Given the description of an element on the screen output the (x, y) to click on. 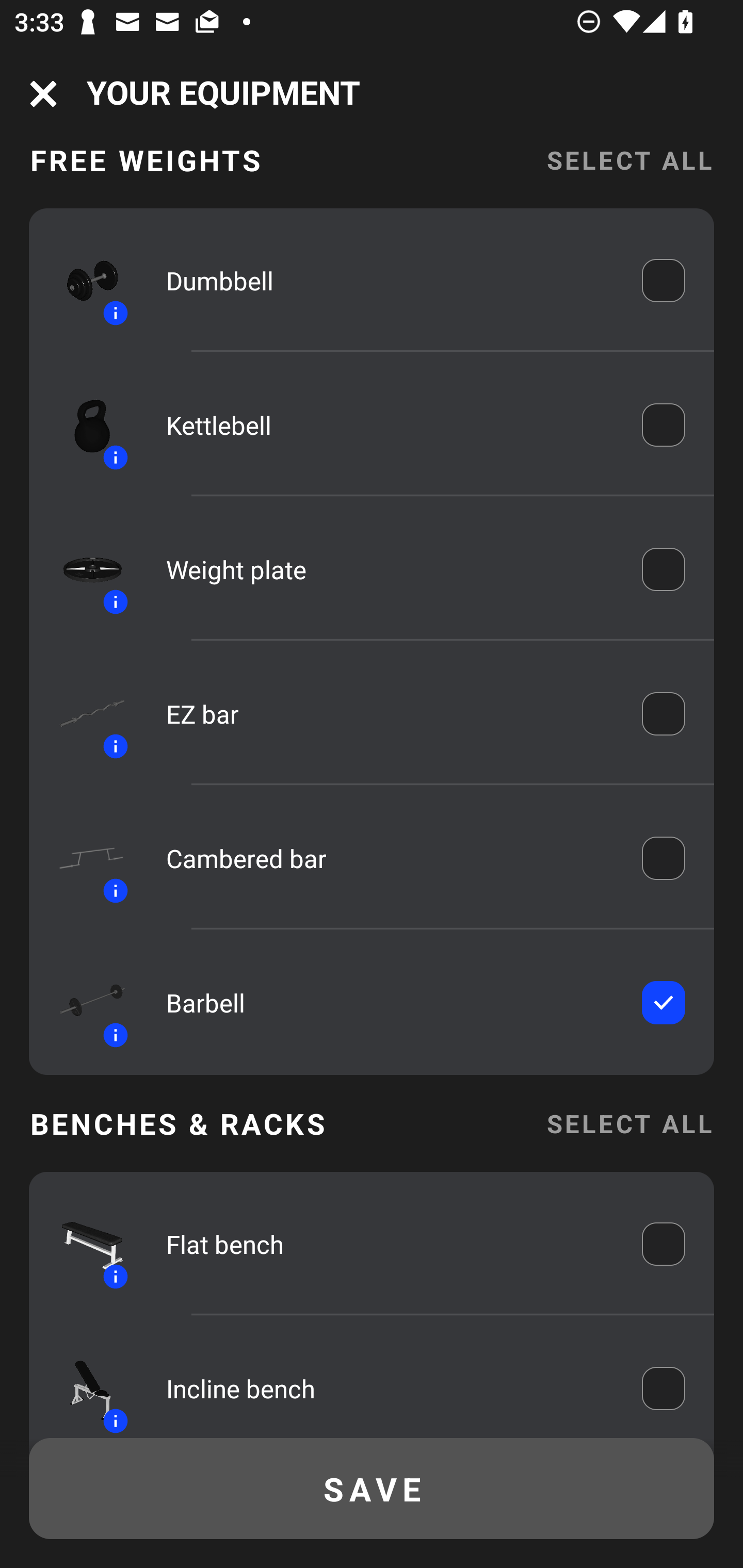
Navigation icon (43, 93)
SELECT ALL (629, 173)
Equipment icon Information icon (82, 279)
Dumbbell (389, 280)
Equipment icon Information icon (82, 425)
Kettlebell (389, 424)
Equipment icon Information icon (82, 569)
Weight plate (389, 569)
Equipment icon Information icon (82, 714)
EZ bar (389, 714)
Equipment icon Information icon (82, 858)
Cambered bar (389, 858)
Equipment icon Information icon (82, 1002)
Barbell (389, 1002)
SELECT ALL (629, 1123)
Equipment icon Information icon (82, 1244)
Flat bench (389, 1244)
Equipment icon Information icon (82, 1385)
Incline bench (389, 1388)
SAVE (371, 1488)
